Given the description of an element on the screen output the (x, y) to click on. 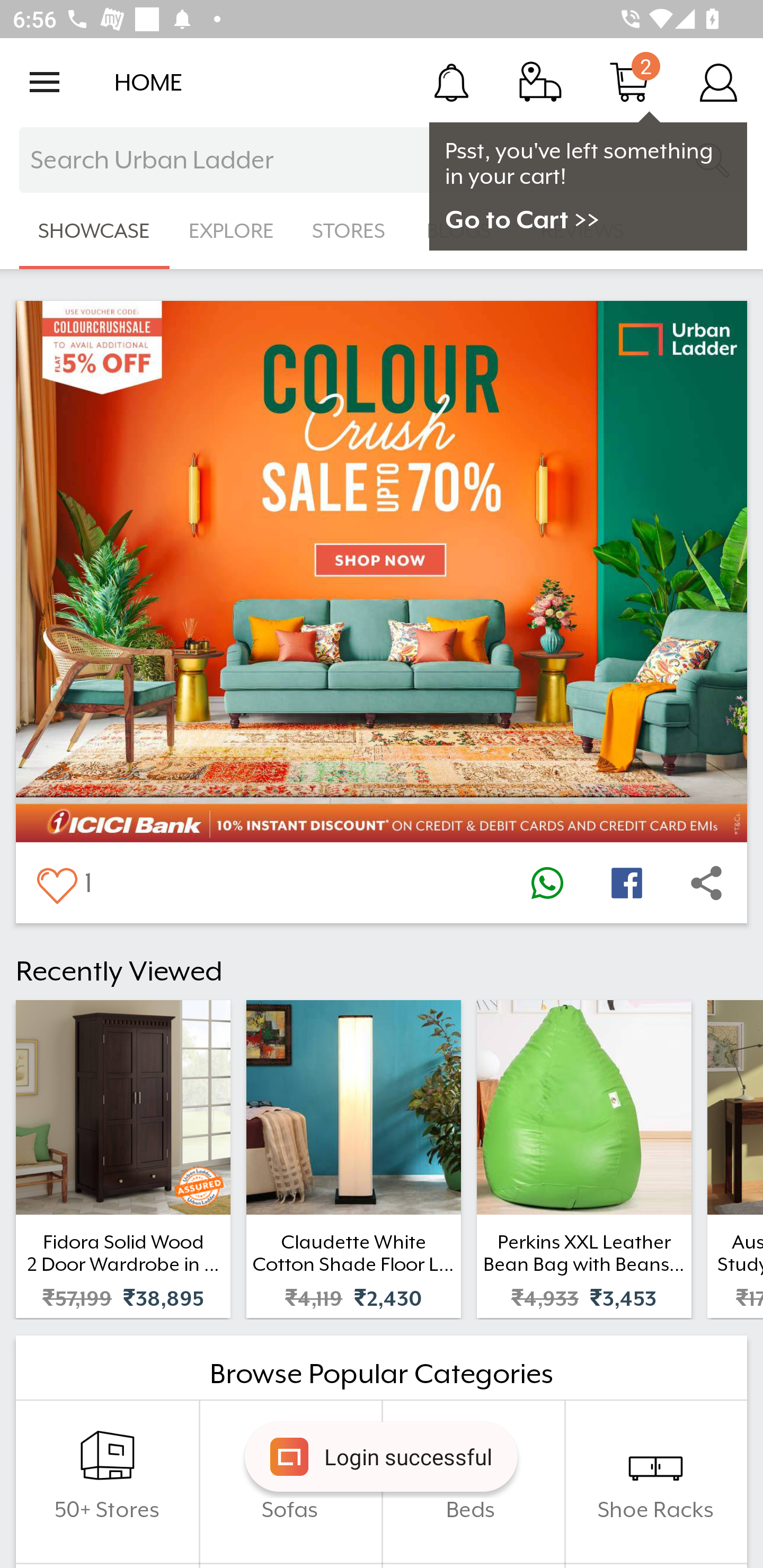
Open navigation drawer (44, 82)
Notification (450, 81)
Track Order (540, 81)
Cart (629, 81)
Account Details (718, 81)
Search Urban Ladder  (381, 159)
SHOWCASE (94, 230)
EXPLORE (230, 230)
STORES (349, 230)
 (55, 882)
 (547, 882)
 (626, 882)
 (706, 882)
50+ Stores (106, 1481)
Sofas (289, 1481)
Beds  (473, 1481)
Shoe Racks (655, 1481)
